Given the description of an element on the screen output the (x, y) to click on. 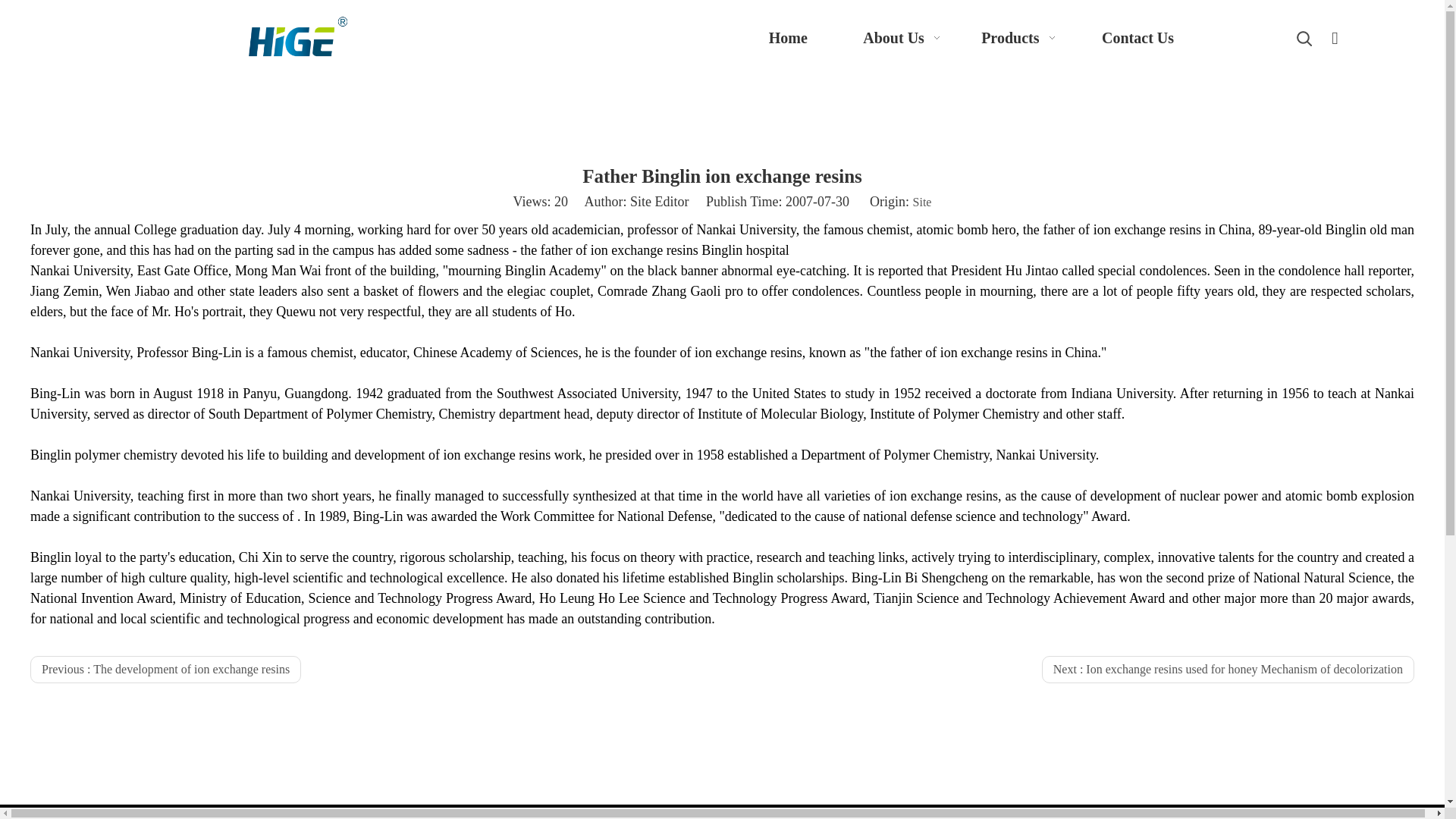
Products   (1021, 37)
About Us   (903, 37)
Previous : The development of ion exchange resins (165, 669)
Contact Us (1138, 37)
Home (787, 37)
Site (921, 201)
